Given the description of an element on the screen output the (x, y) to click on. 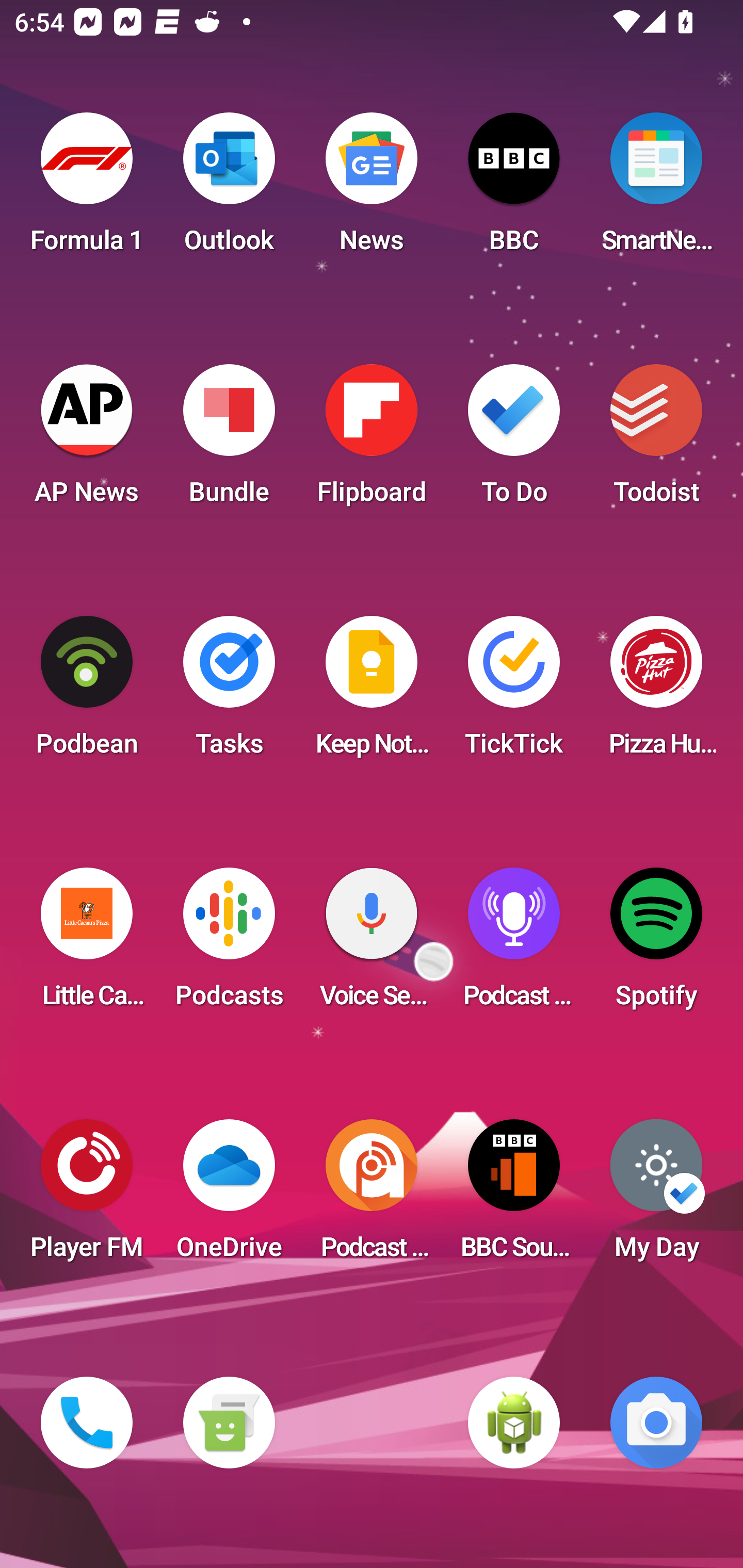
Formula 1 (86, 188)
Outlook (228, 188)
News (371, 188)
BBC (513, 188)
SmartNews (656, 188)
AP News (86, 440)
Bundle (228, 440)
Flipboard (371, 440)
To Do (513, 440)
Todoist (656, 440)
Podbean (86, 692)
Tasks (228, 692)
Keep Notes (371, 692)
TickTick (513, 692)
Pizza Hut HK & Macau (656, 692)
Little Caesars Pizza (86, 943)
Podcasts (228, 943)
Voice Search (371, 943)
Podcast Player (513, 943)
Spotify (656, 943)
Player FM (86, 1195)
OneDrive (228, 1195)
Podcast Addict (371, 1195)
BBC Sounds (513, 1195)
My Day (656, 1195)
Phone (86, 1422)
Messaging (228, 1422)
WebView Browser Tester (513, 1422)
Camera (656, 1422)
